Given the description of an element on the screen output the (x, y) to click on. 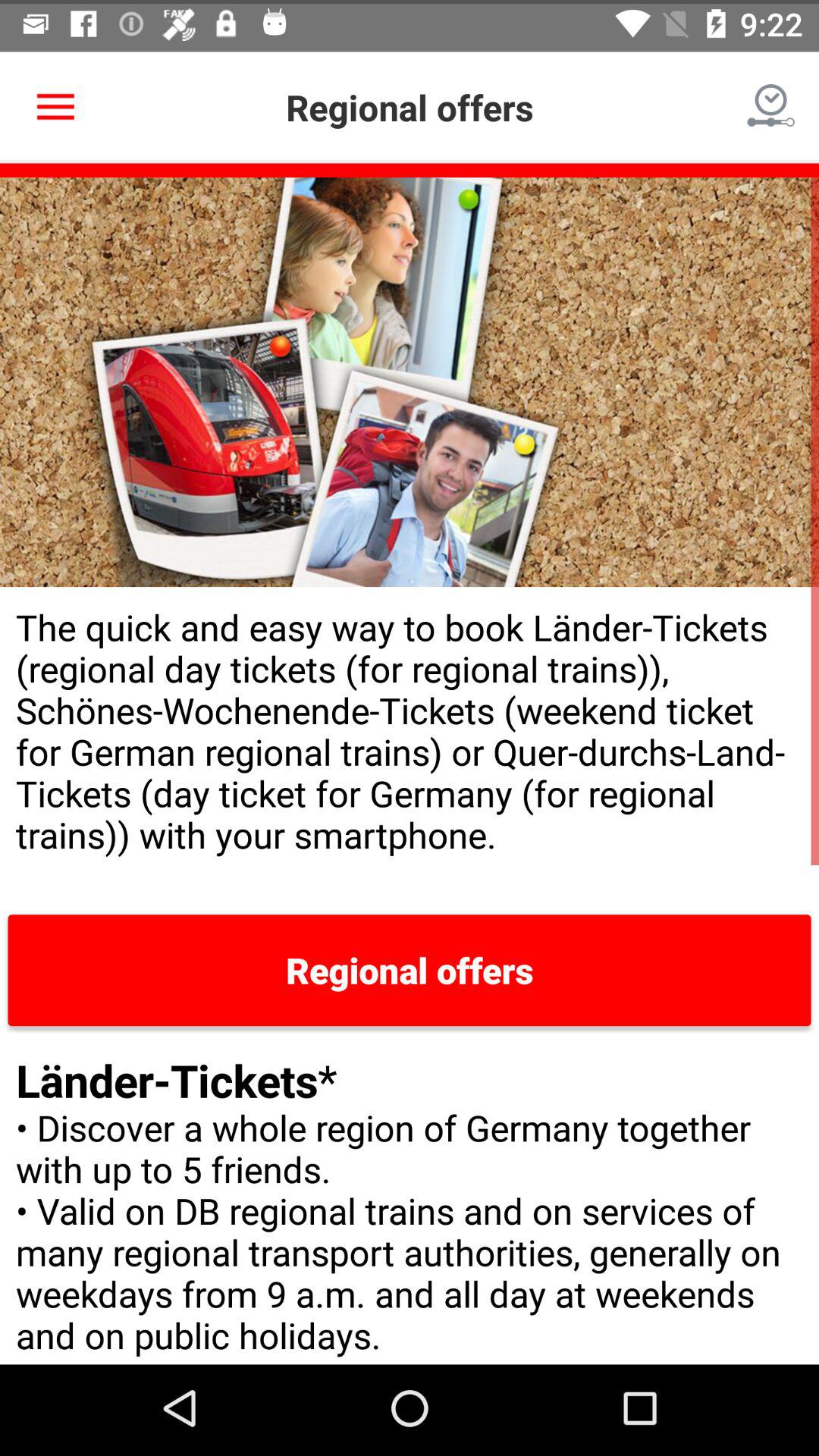
click the icon to the left of the regional offers icon (55, 103)
